Given the description of an element on the screen output the (x, y) to click on. 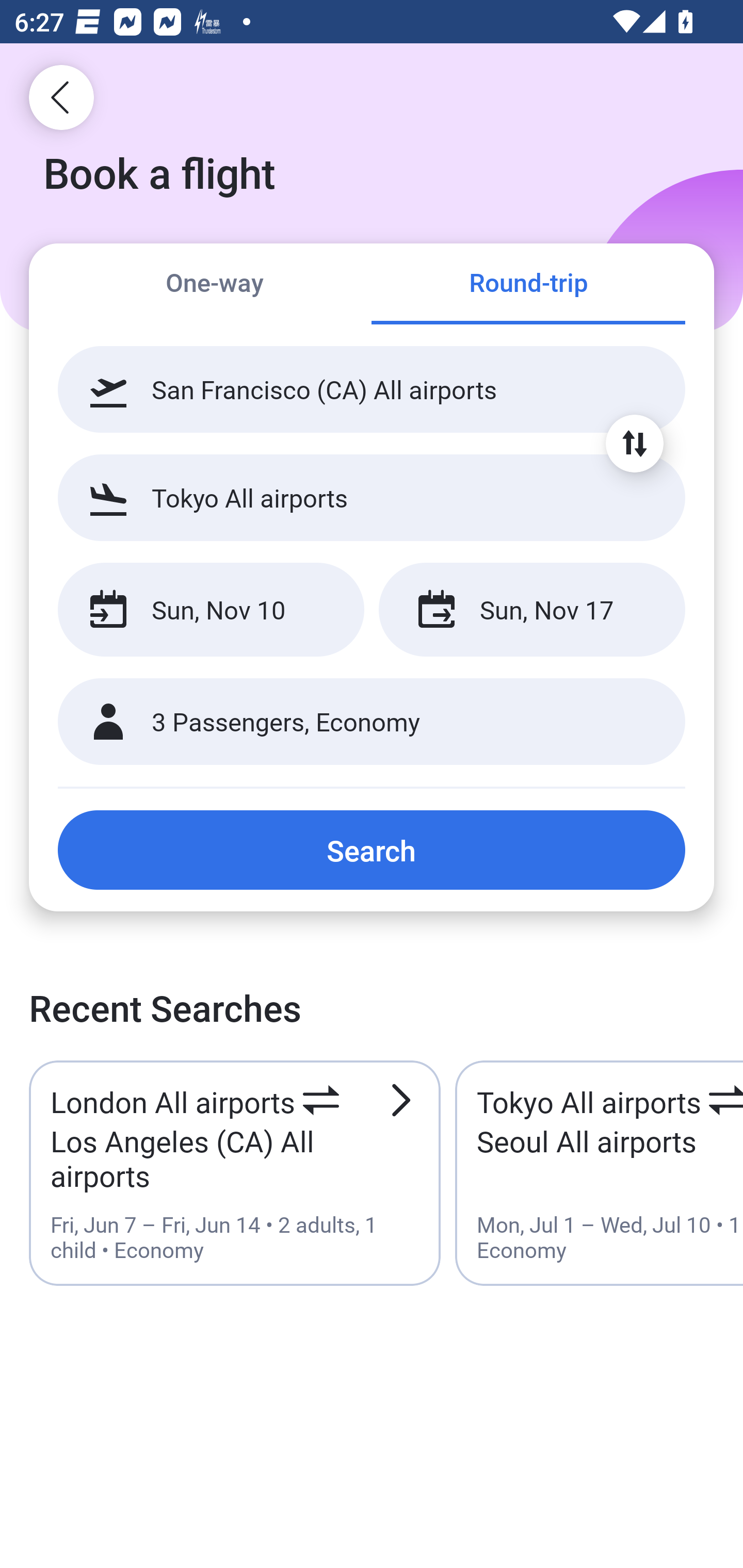
One-way (214, 284)
San Francisco (CA) All airports (371, 389)
Tokyo All airports (371, 497)
Sun, Nov 10 (210, 609)
Sun, Nov 17 (531, 609)
3 Passengers, Economy (371, 721)
Search (371, 849)
